Given the description of an element on the screen output the (x, y) to click on. 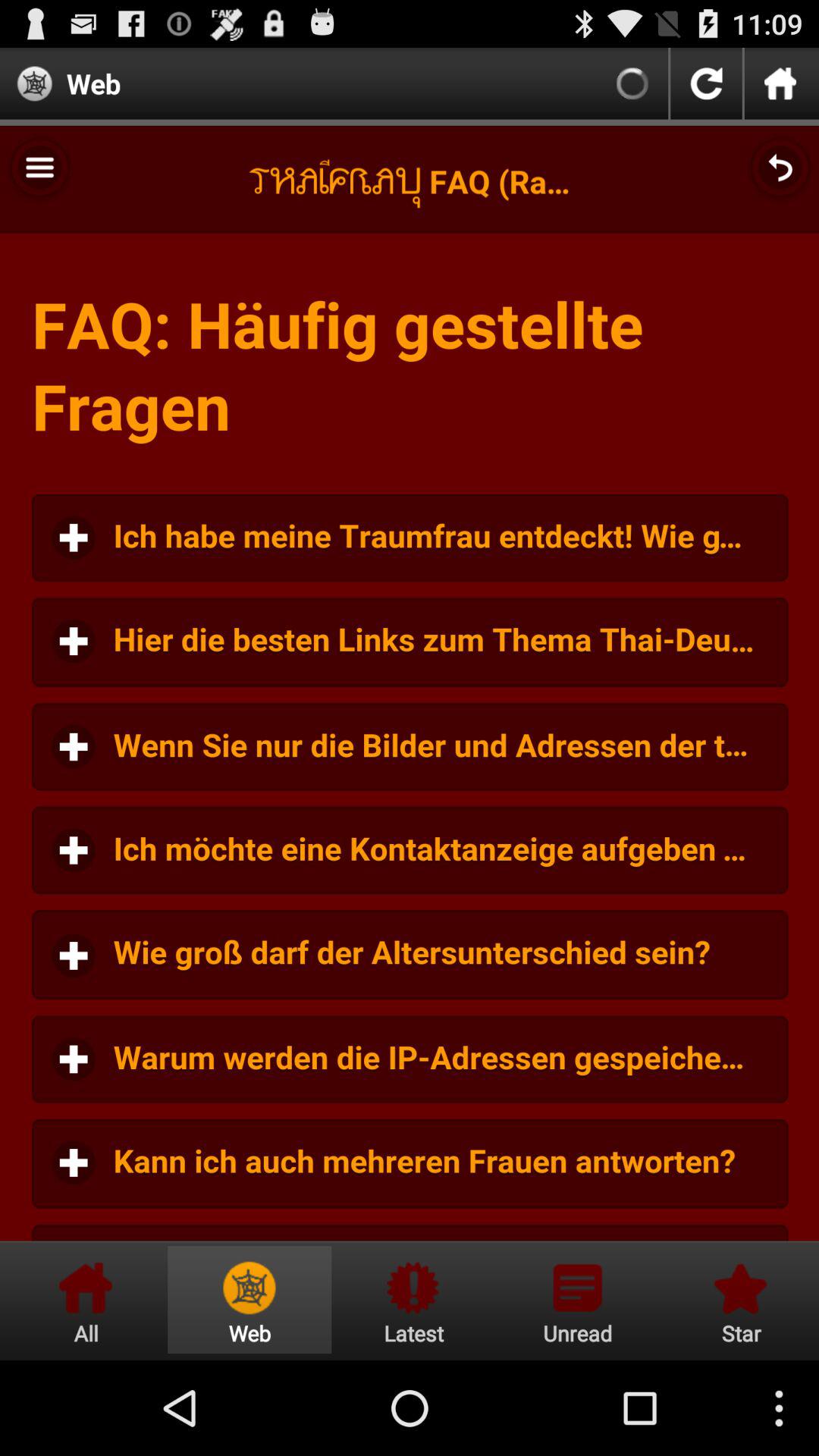
refresh (706, 83)
